Given the description of an element on the screen output the (x, y) to click on. 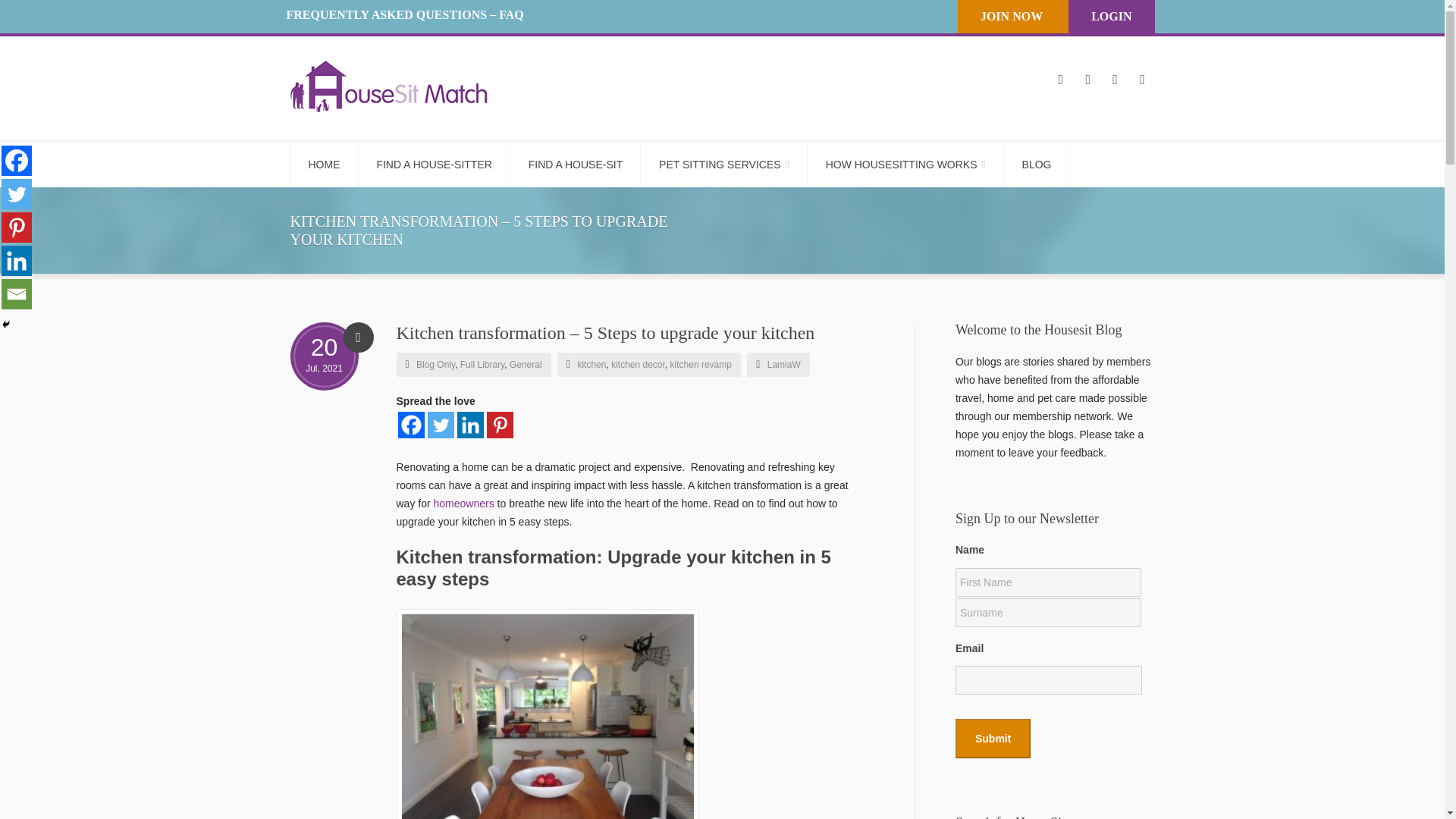
kitchen decor (638, 364)
FIND A HOUSE-SITTER (433, 164)
PET SITTING SERVICES (725, 164)
JOIN NOW (1010, 16)
Linkedin (16, 260)
FIND A HOUSE-SIT (575, 164)
Twitter (441, 424)
Facebook (410, 424)
Submit (992, 738)
Blog Only (435, 364)
BLOG (1037, 164)
LOGIN (1110, 16)
Pinterest (499, 424)
Pinterest (16, 227)
Facebook (16, 160)
